Given the description of an element on the screen output the (x, y) to click on. 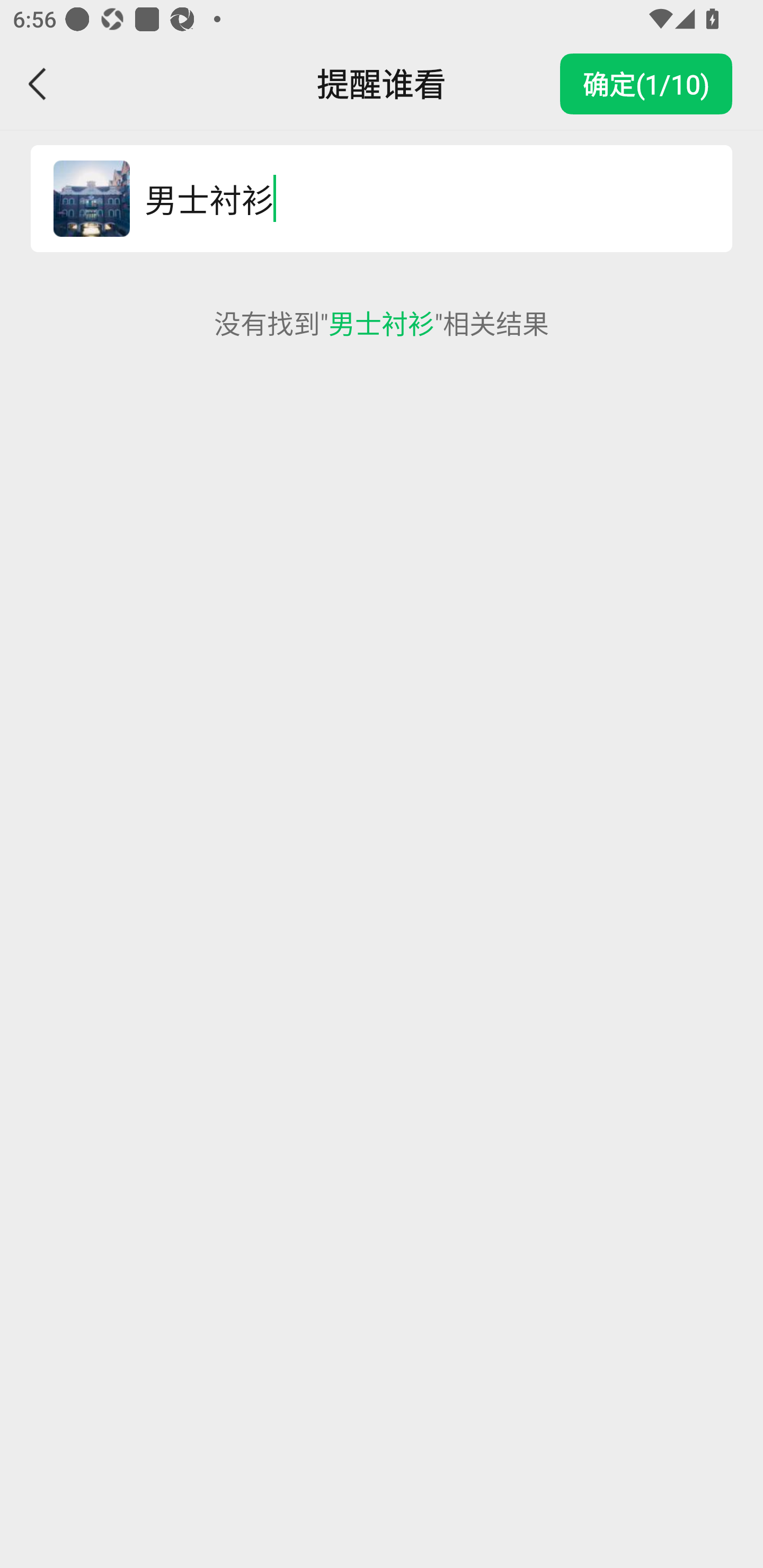
返回 (38, 83)
确定(1/10) (646, 83)
CYX (91, 198)
男士衬衫 (418, 198)
